Given the description of an element on the screen output the (x, y) to click on. 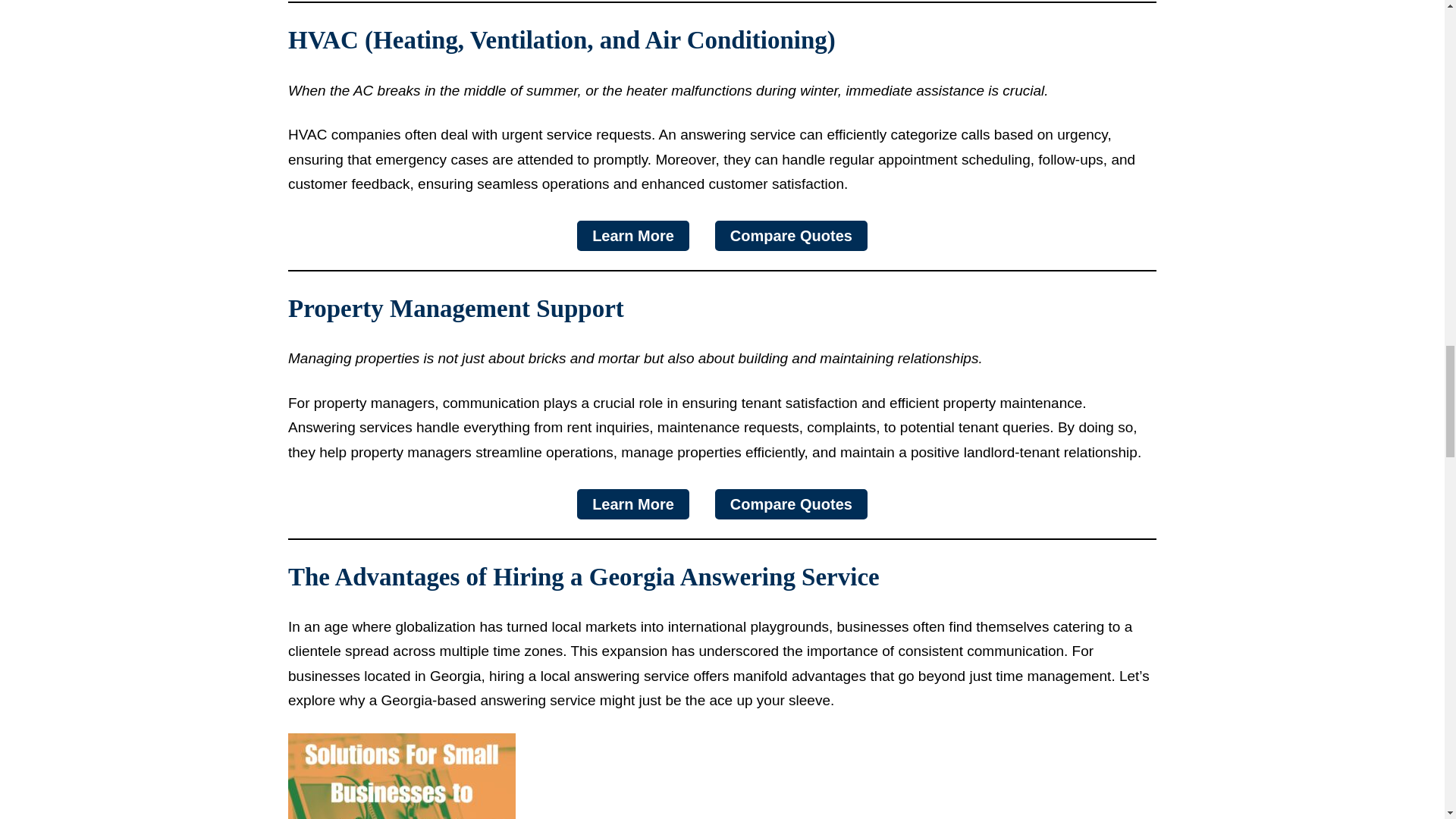
Solutions For All Businesses (401, 776)
